Given the description of an element on the screen output the (x, y) to click on. 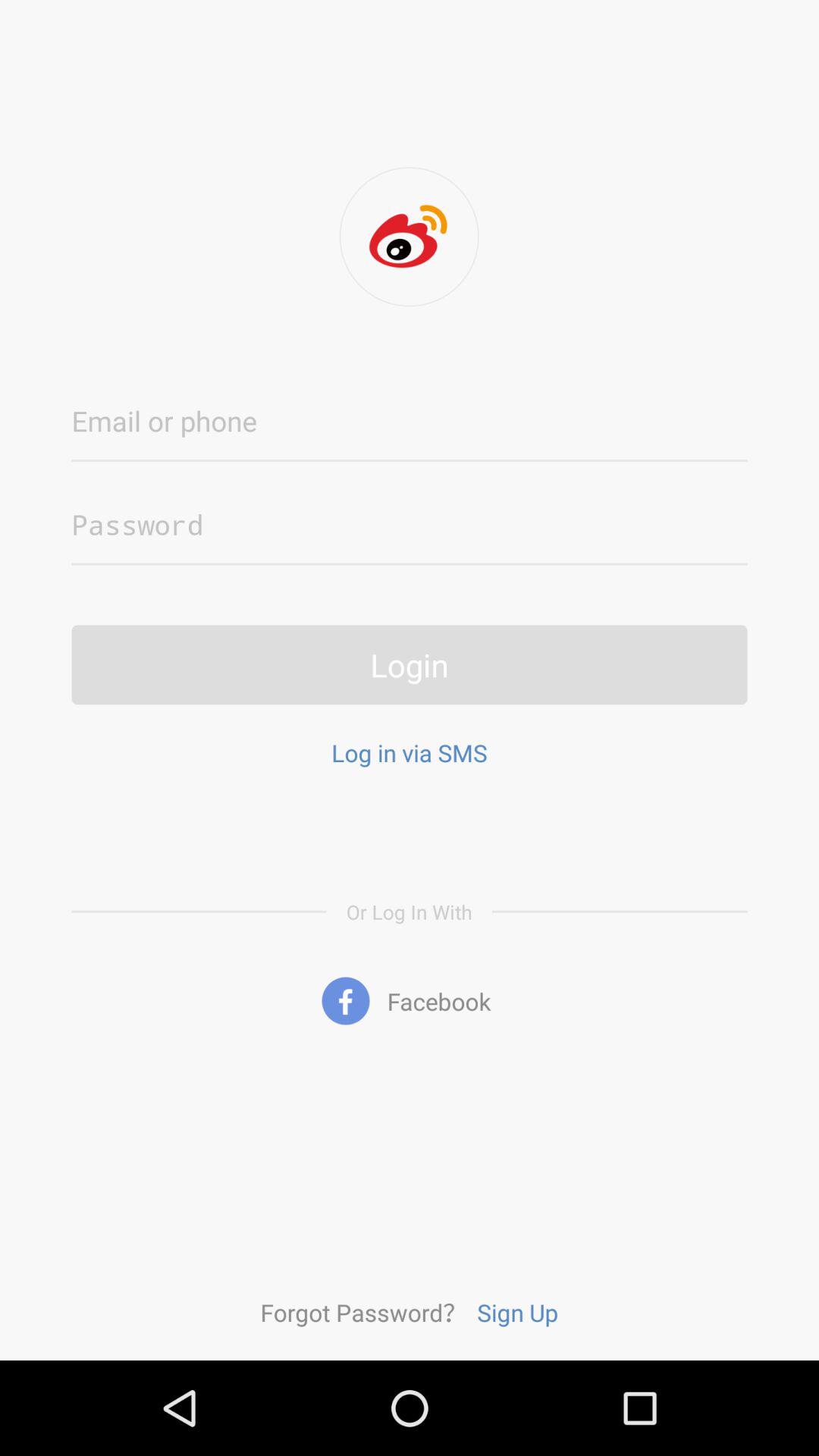
press facebook (409, 1000)
